Given the description of an element on the screen output the (x, y) to click on. 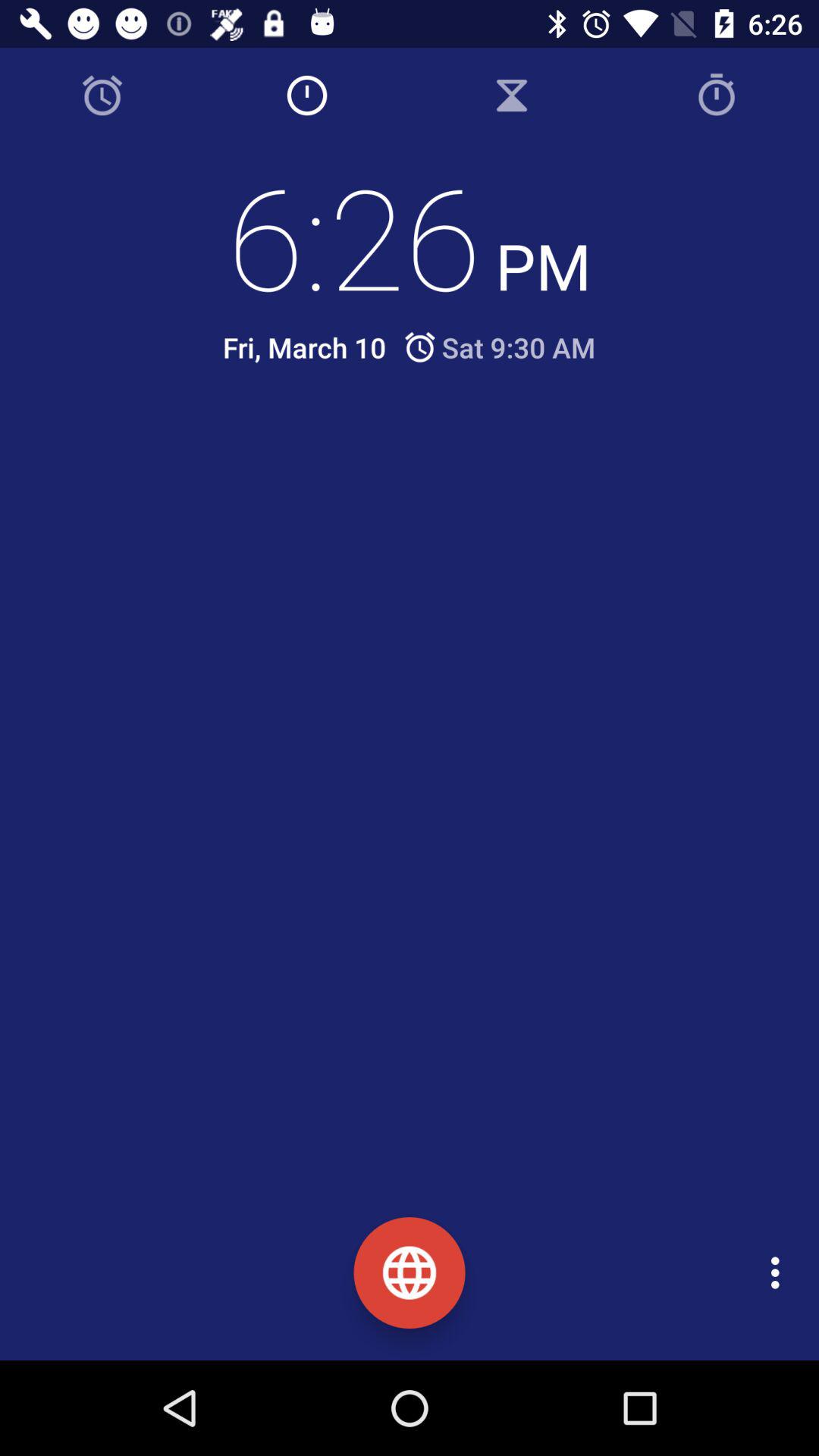
flip until the sat 9 30 (498, 347)
